Given the description of an element on the screen output the (x, y) to click on. 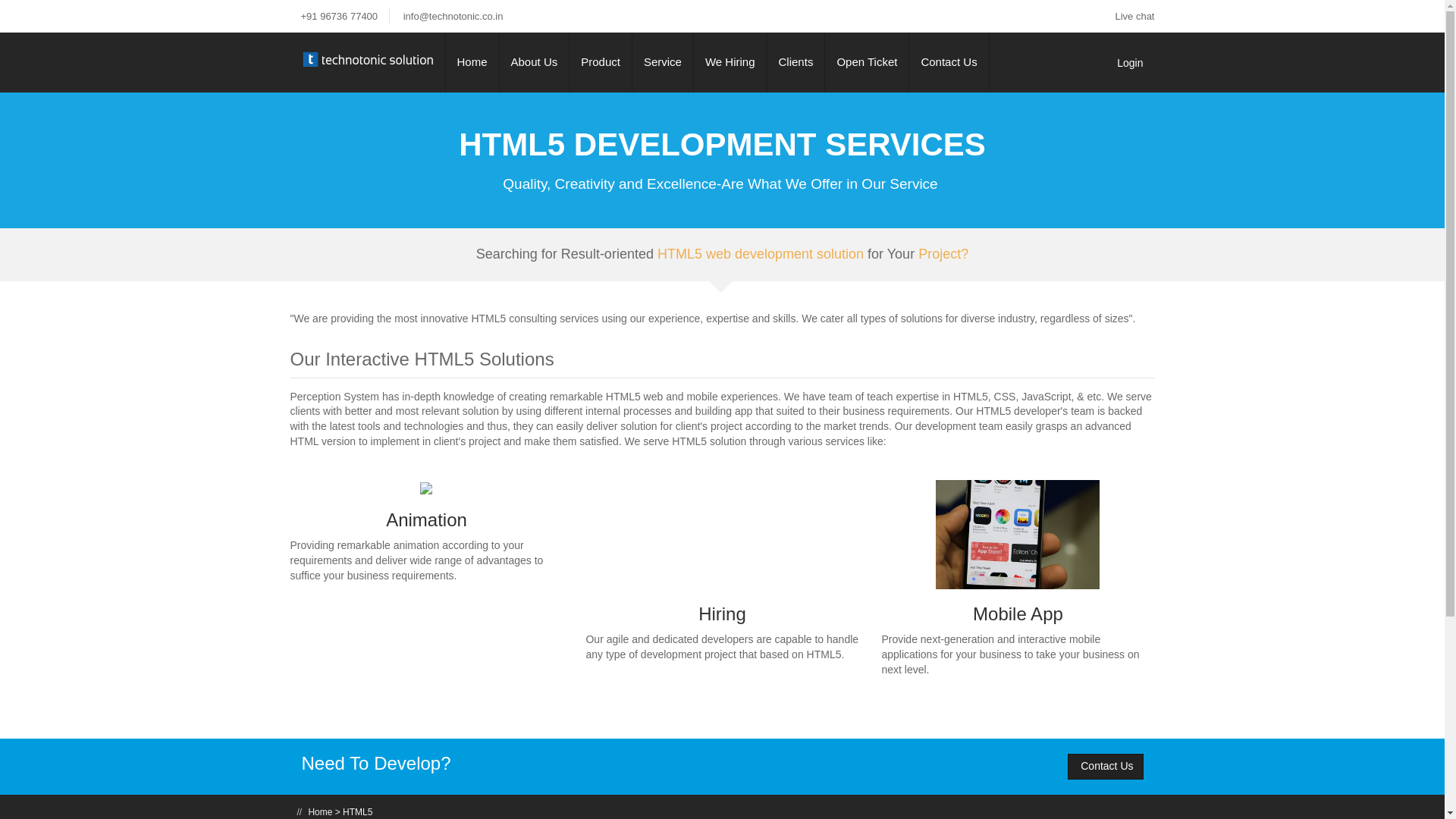
Live chat (1133, 16)
About Us (534, 62)
Home (319, 811)
Product (600, 62)
Clients (796, 62)
Open Ticket (866, 62)
Contact Us (948, 62)
We Hiring (730, 62)
Service (662, 62)
HTML5 (357, 811)
Contact Us (1104, 766)
